Given the description of an element on the screen output the (x, y) to click on. 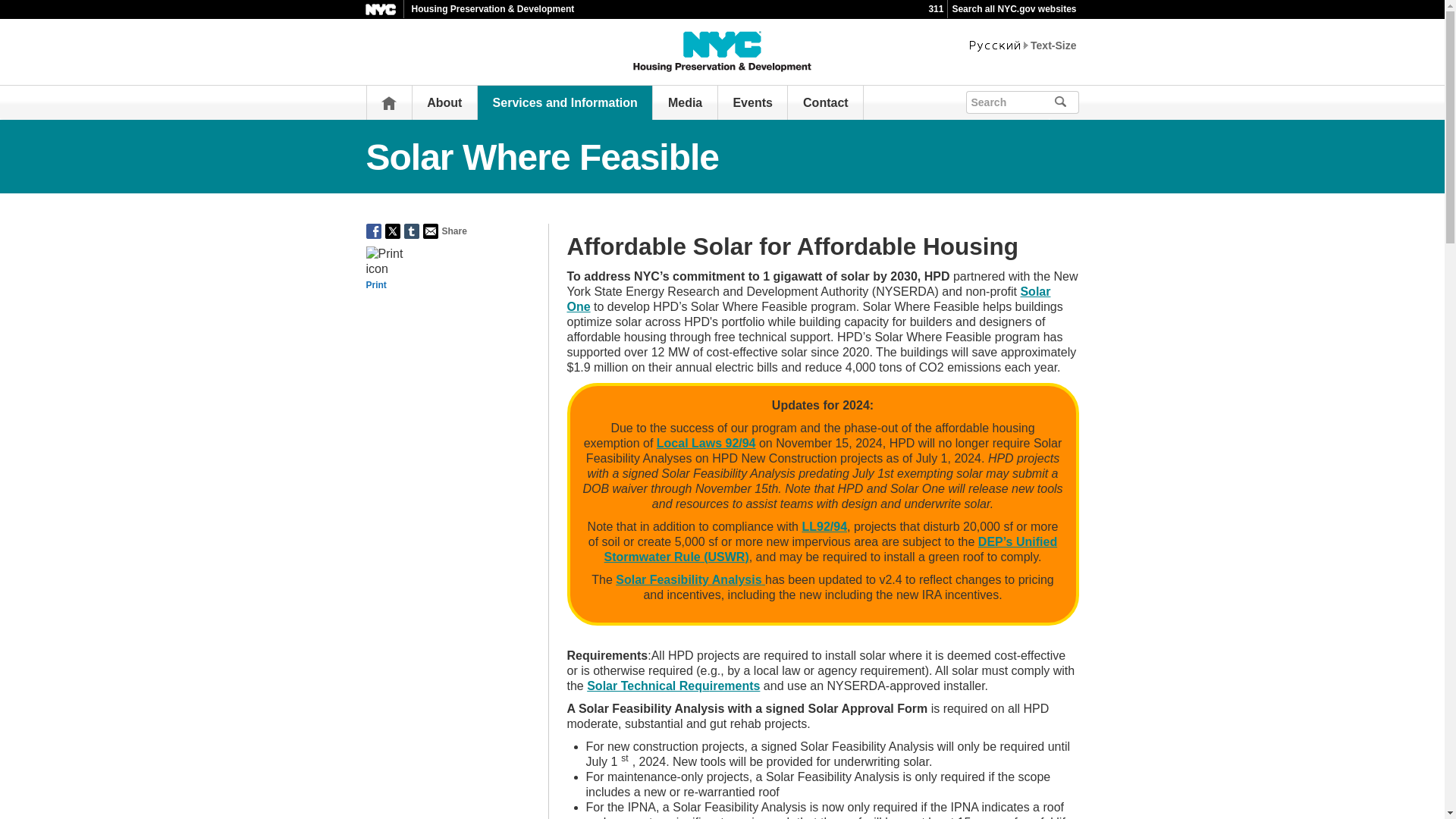
submit (1066, 101)
submit (1081, 100)
Solar Technical Requirements (673, 685)
Solar Feasibility Analysis (690, 579)
submit (1066, 101)
Media (684, 102)
Services and Information (565, 102)
Contact (825, 102)
Text-Size (1052, 45)
submit (1066, 101)
